Given the description of an element on the screen output the (x, y) to click on. 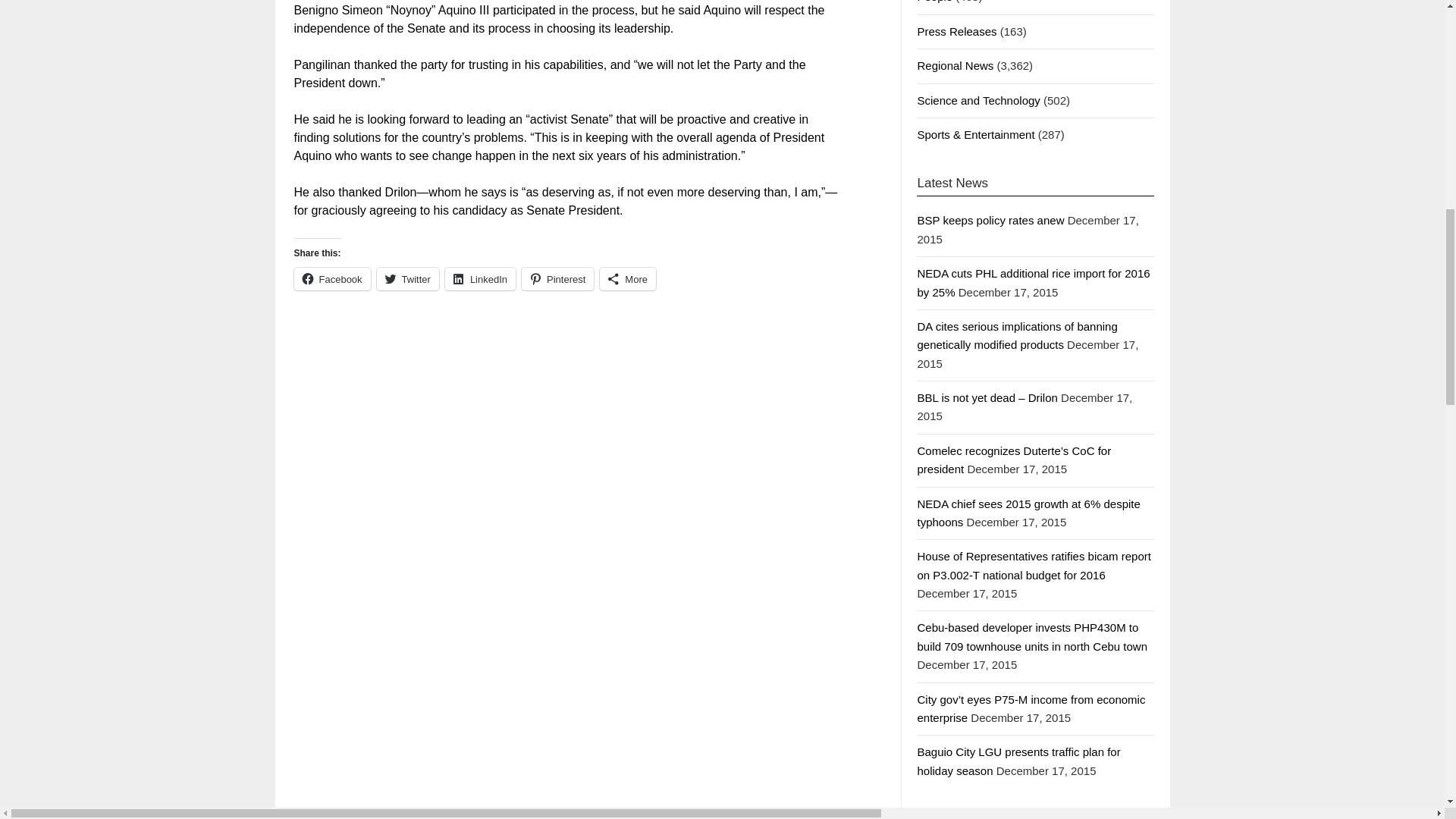
Click to share on Twitter (408, 278)
Regional News (954, 65)
More (627, 278)
Facebook (332, 278)
People (934, 1)
Press Releases (956, 31)
Science and Technology (978, 100)
BSP keeps policy rates anew (990, 219)
Click to share on Pinterest (557, 278)
Click to share on Facebook (332, 278)
LinkedIn (480, 278)
Click to share on LinkedIn (480, 278)
Pinterest (557, 278)
Twitter (408, 278)
